Given the description of an element on the screen output the (x, y) to click on. 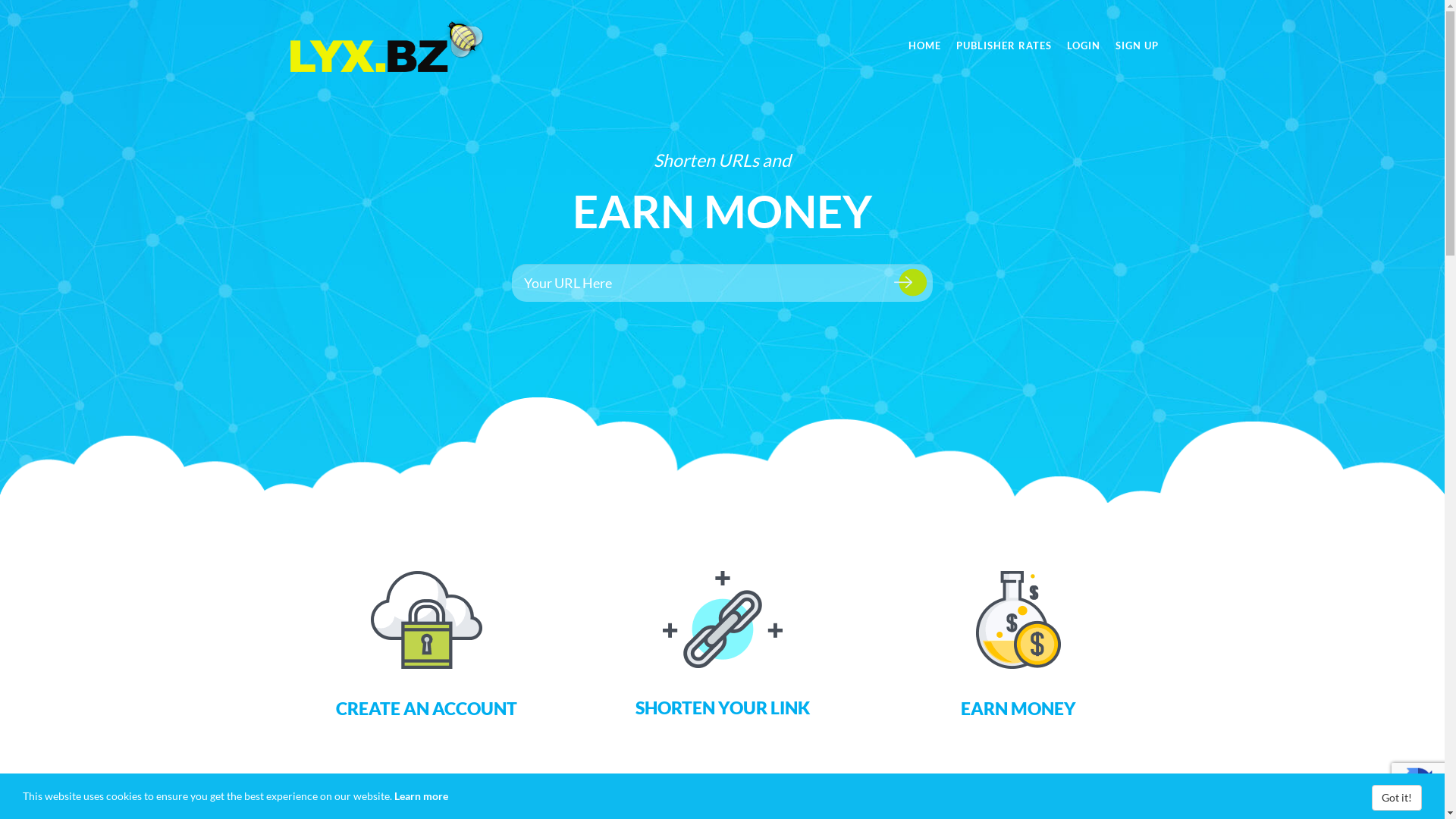
Learn more Element type: text (421, 795)
PUBLISHER RATES Element type: text (1002, 45)
Got it! Element type: text (1396, 797)
HOME Element type: text (924, 45)
SIGN UP Element type: text (1136, 45)
LOGIN Element type: text (1082, 45)
